Given the description of an element on the screen output the (x, y) to click on. 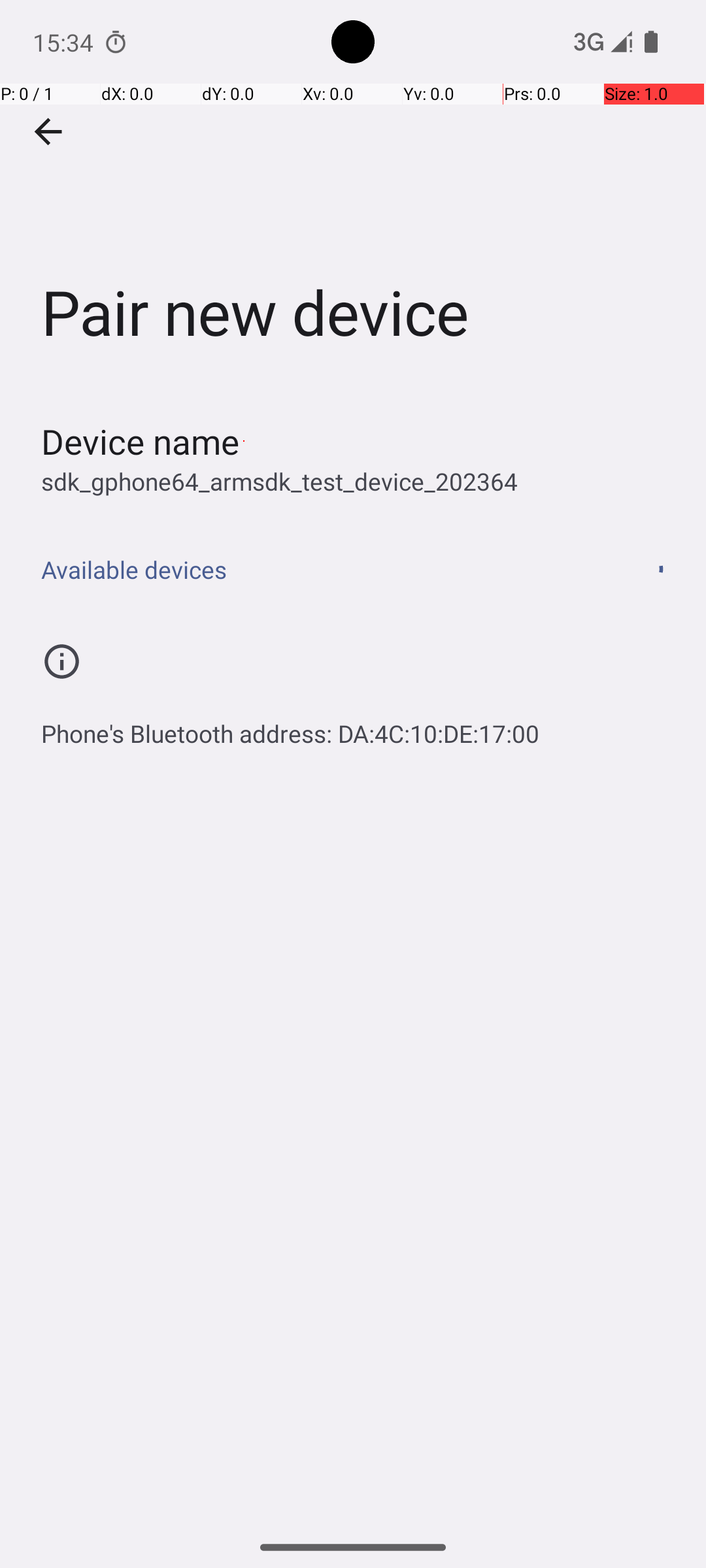
sdk_gphone64_armsdk_test_device_202364 Element type: android.widget.TextView (279, 480)
Available devices Element type: android.widget.TextView (318, 569)
Phone's Bluetooth address: DA:4C:10:DE:17:00 Element type: android.widget.TextView (290, 726)
